Given the description of an element on the screen output the (x, y) to click on. 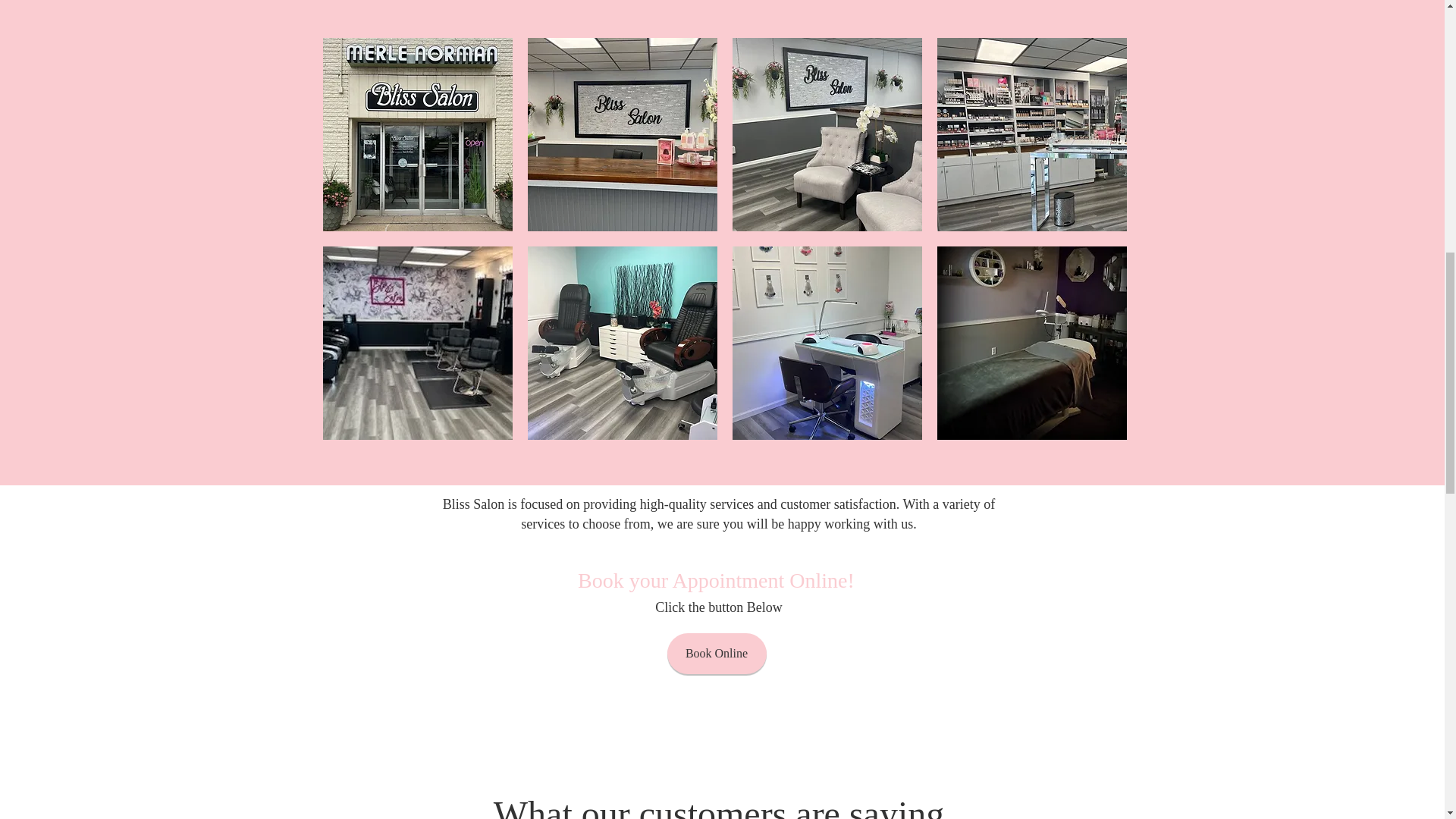
Book Online (716, 653)
